Given the description of an element on the screen output the (x, y) to click on. 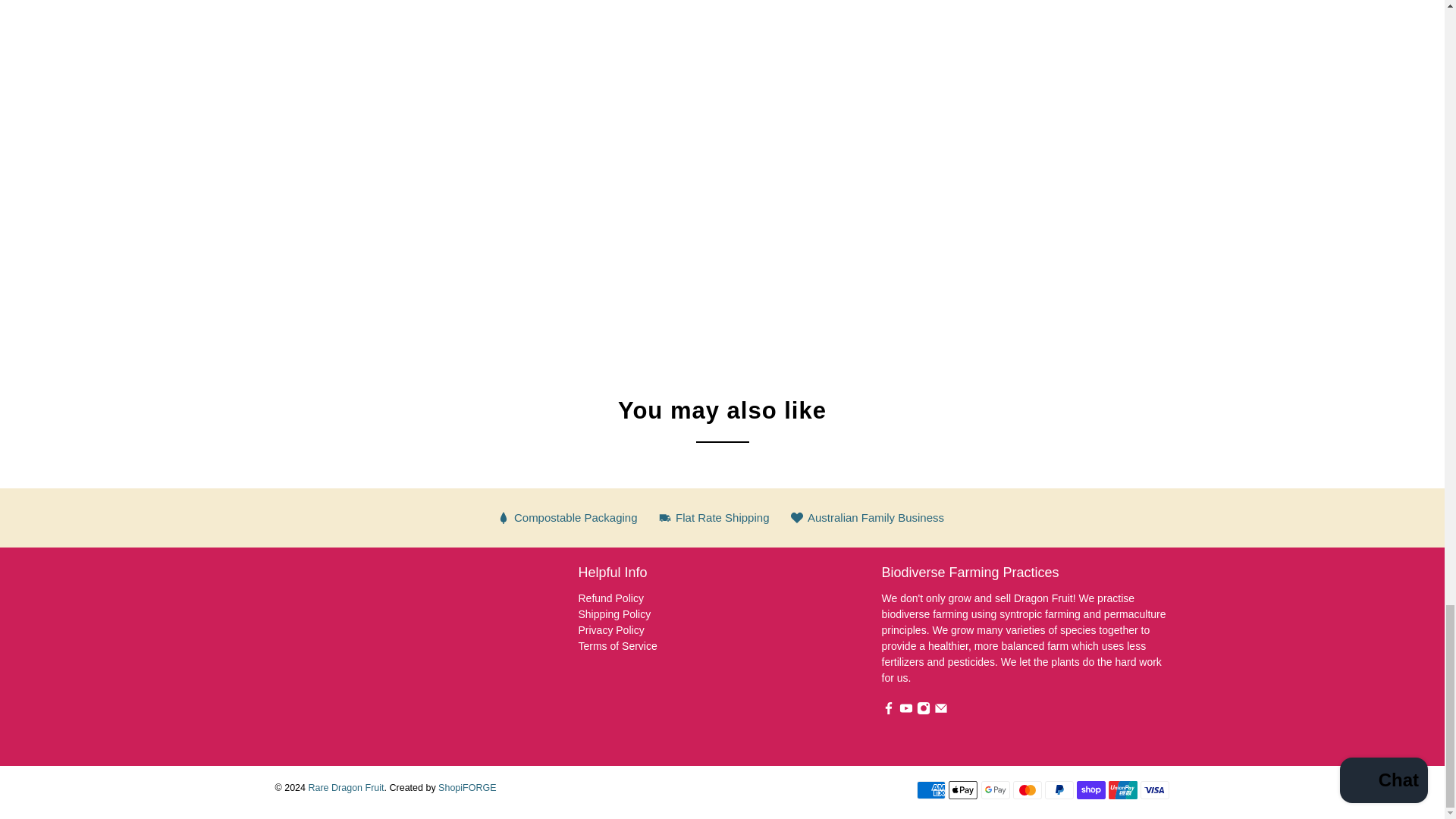
Rare Dragon Fruit on Facebook (887, 711)
American Express (930, 790)
Rare Dragon Fruit (360, 656)
